Given the description of an element on the screen output the (x, y) to click on. 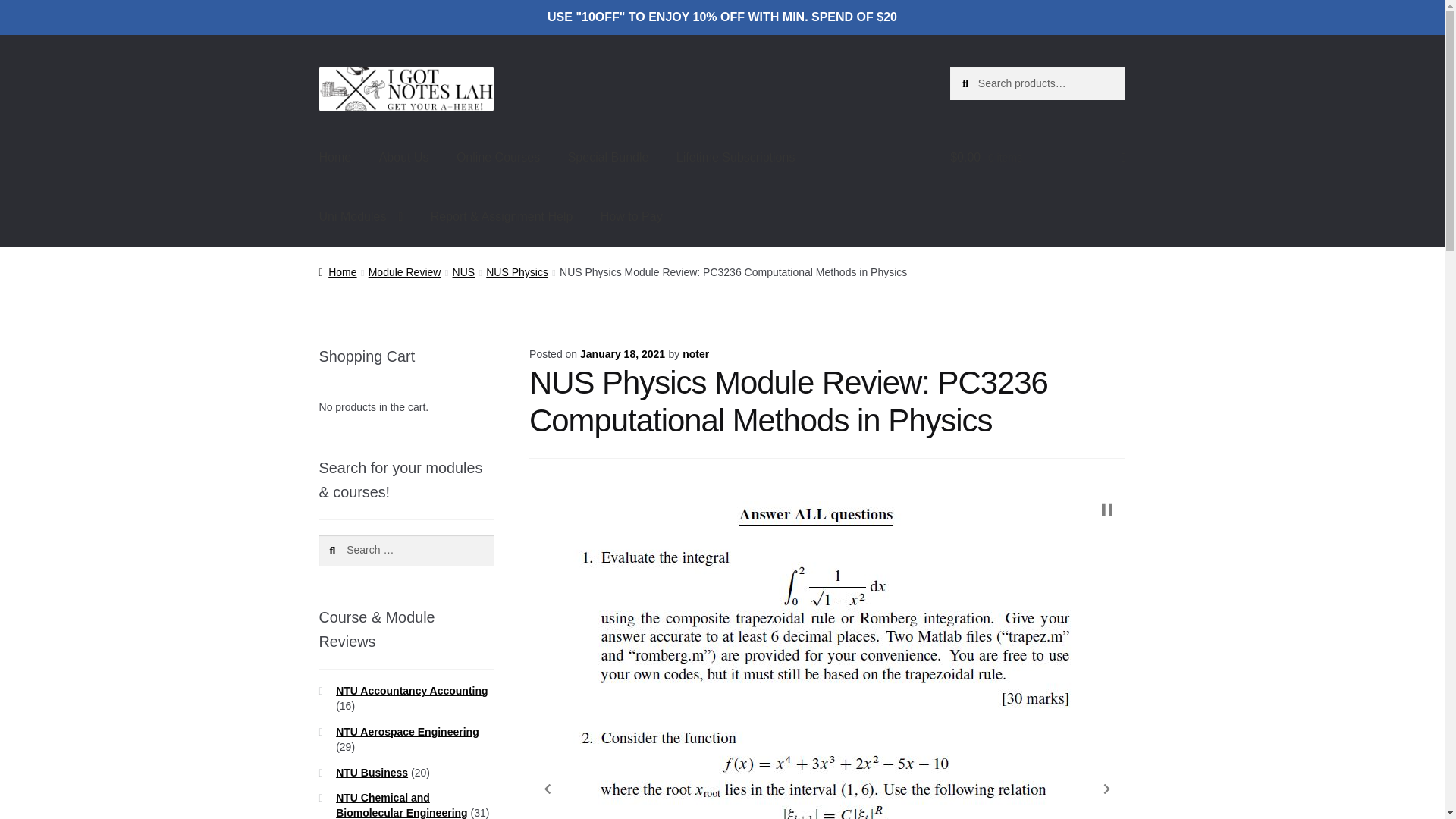
Module Review (404, 272)
About Us (403, 157)
Special Bundle (608, 157)
NUS (464, 272)
noter (695, 354)
January 18, 2021 (622, 354)
View your shopping cart (1037, 157)
Lifetime Subscriptions (735, 157)
Home (335, 157)
